Given the description of an element on the screen output the (x, y) to click on. 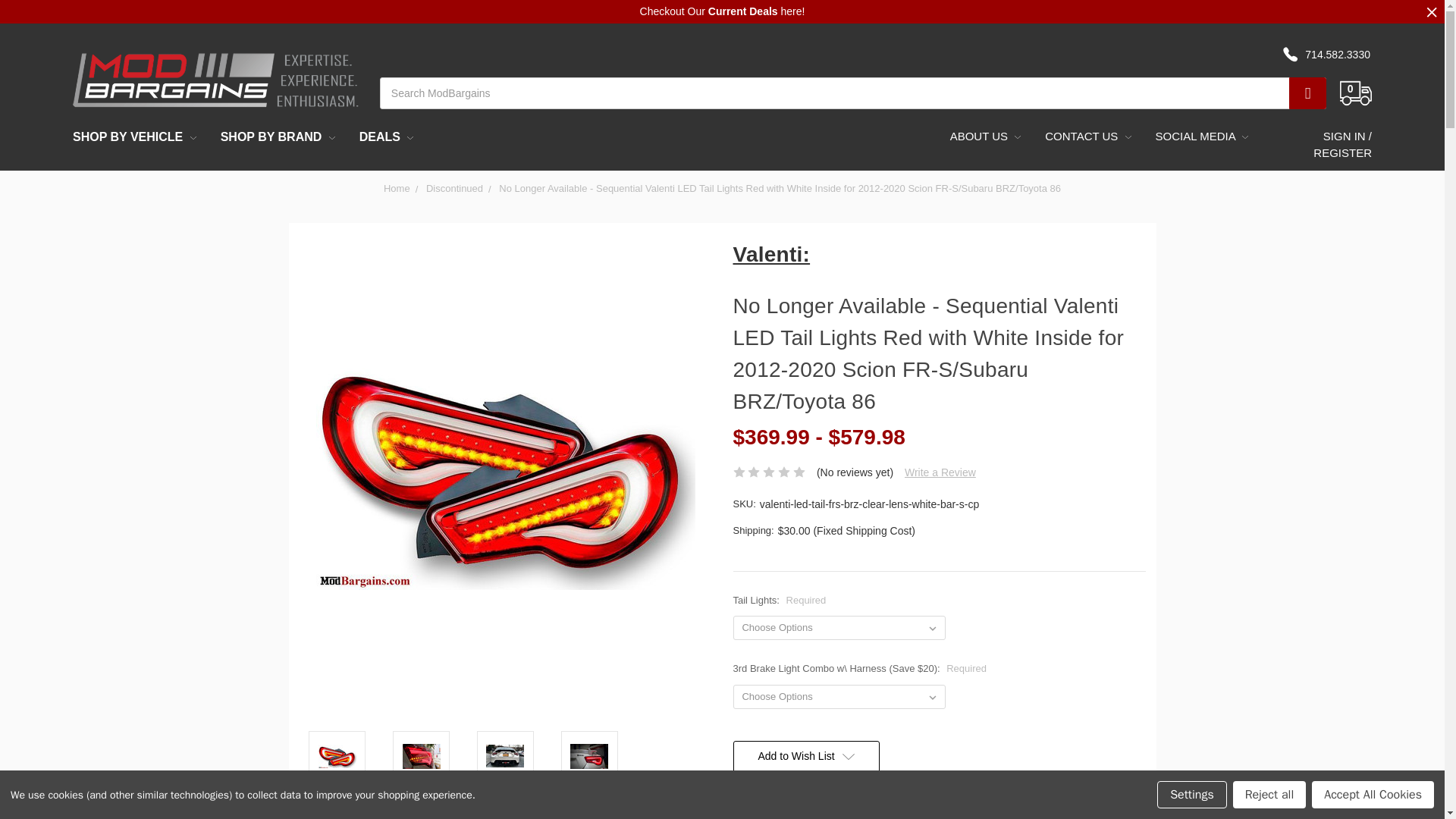
0 (1348, 34)
ModBargains (215, 78)
SHOP BY VEHICLE (134, 136)
714.582.3330 (1335, 54)
